Given the description of an element on the screen output the (x, y) to click on. 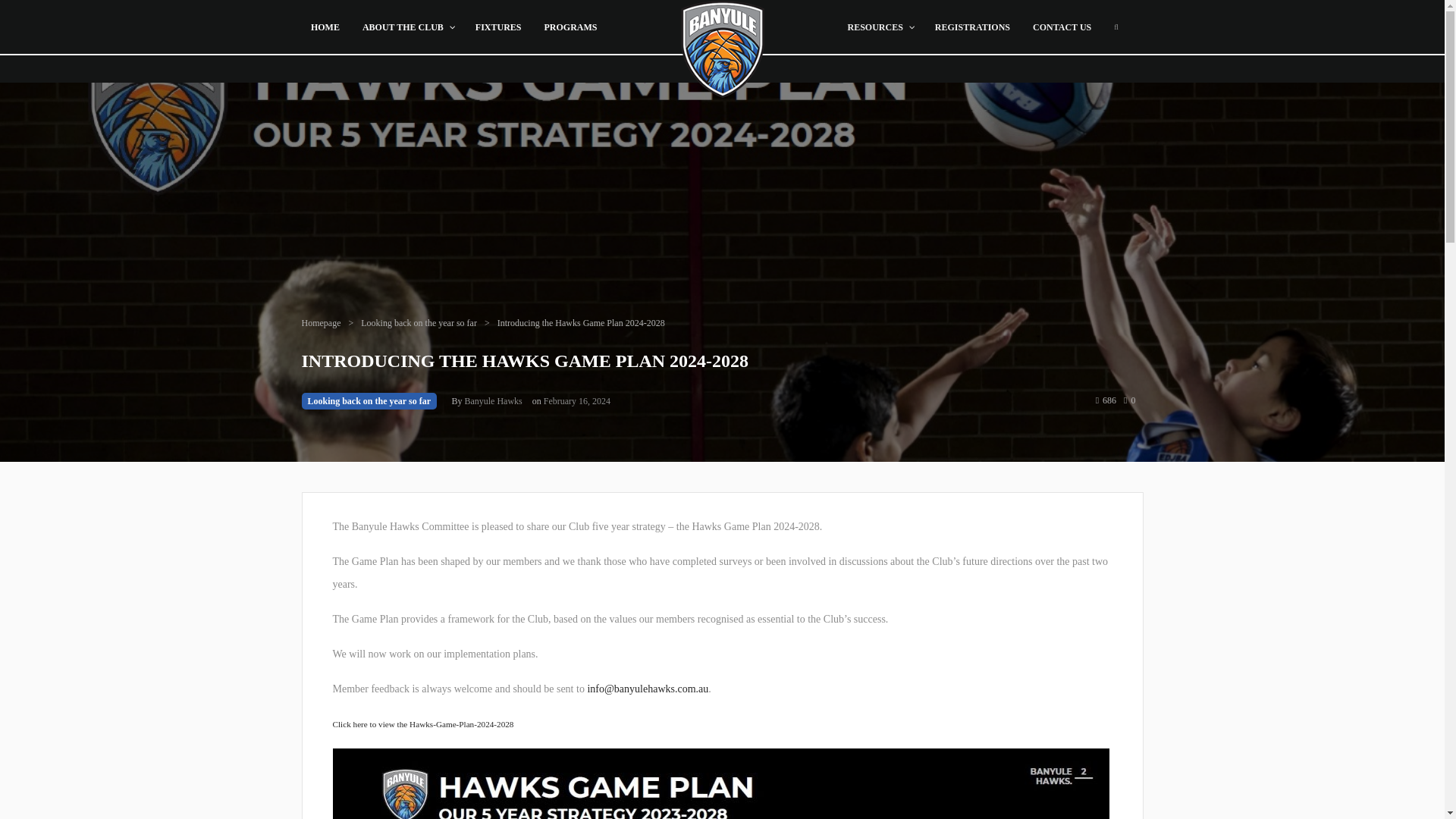
HOME (324, 27)
ABOUT THE CLUB (407, 27)
FIXTURES (498, 27)
Introducing the Hawks Game Plan 2024-2028 (581, 322)
Homepage (320, 322)
